Given the description of an element on the screen output the (x, y) to click on. 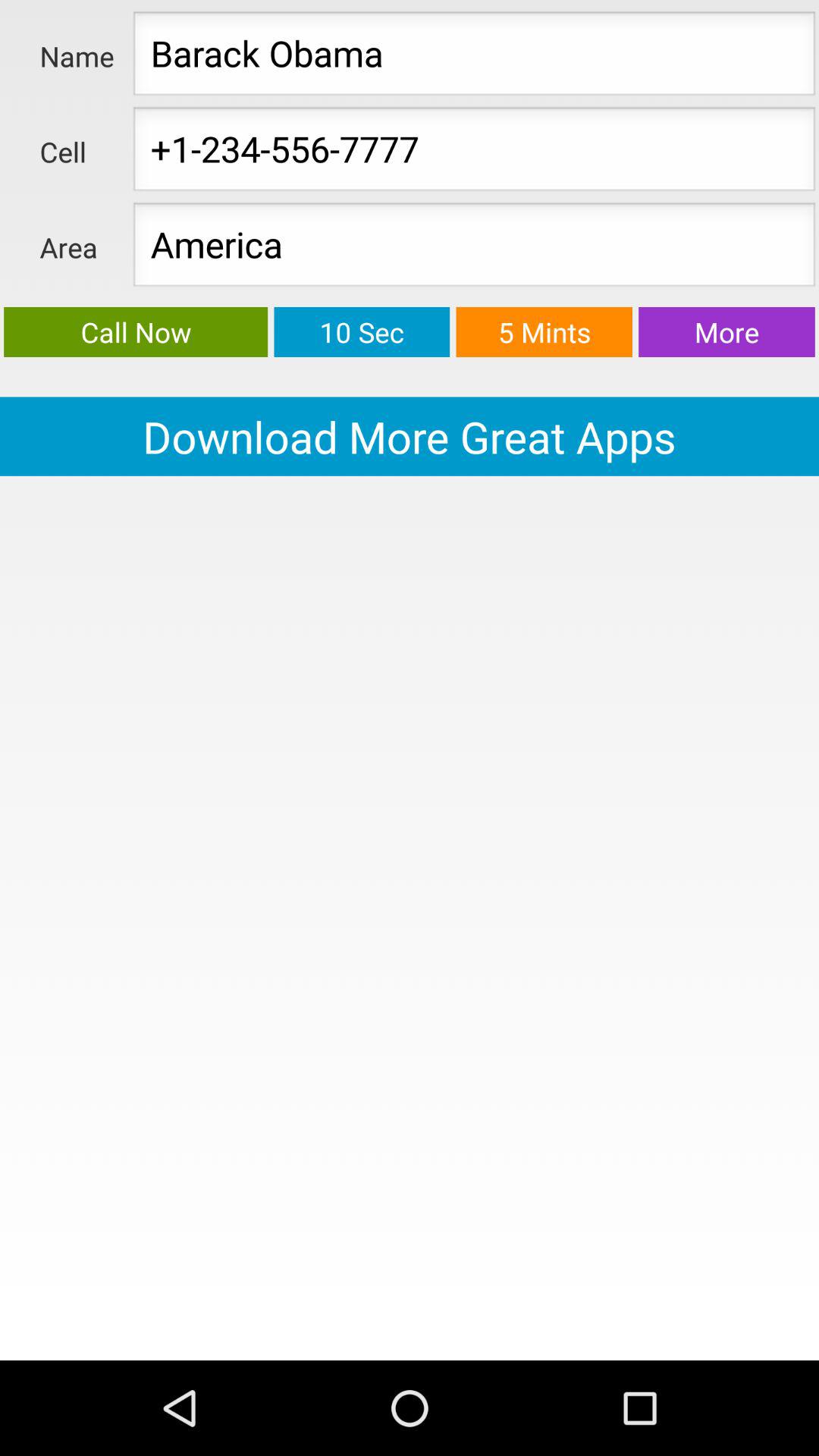
click on green color button (135, 331)
enter the text field next to the name (474, 58)
click on text which is beside call now (361, 331)
click on more button (726, 331)
